Given the description of an element on the screen output the (x, y) to click on. 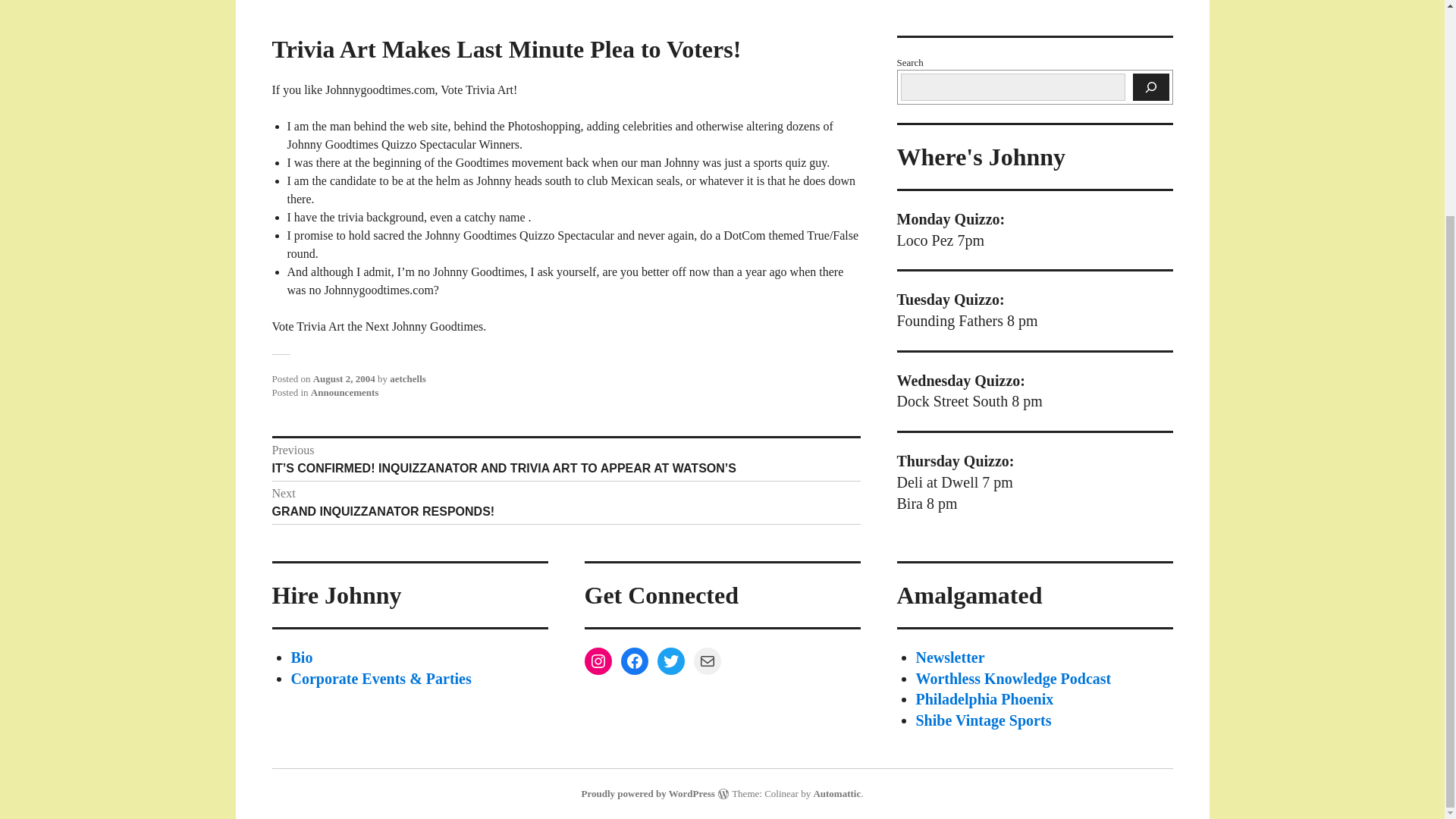
August 2, 2004 (344, 378)
Facebook (633, 660)
Bio (302, 657)
aetchells (408, 378)
Mail (706, 660)
Shibe Vintage Sports (983, 719)
Proudly powered by WordPress (647, 793)
Philadelphia Phoenix (984, 699)
Newsletter (950, 657)
Twitter (670, 660)
Announcements (344, 392)
Instagram (597, 660)
Automattic (836, 793)
Worthless Knowledge Podcast (565, 502)
